Given the description of an element on the screen output the (x, y) to click on. 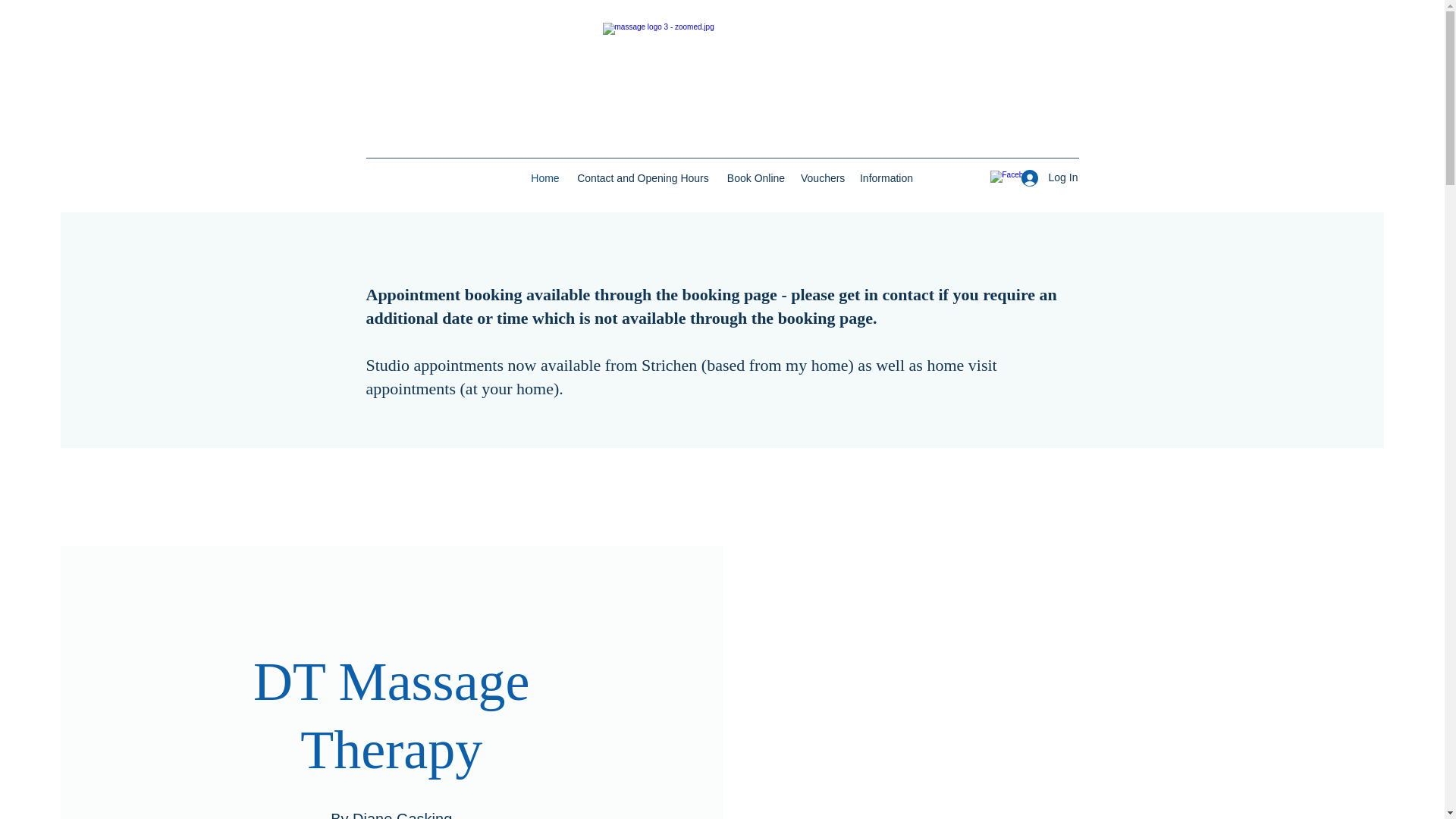
Log In (1044, 177)
Home (544, 178)
Book Online (756, 178)
Information (886, 178)
Contact and Opening Hours (643, 178)
Vouchers (822, 178)
